Given the description of an element on the screen output the (x, y) to click on. 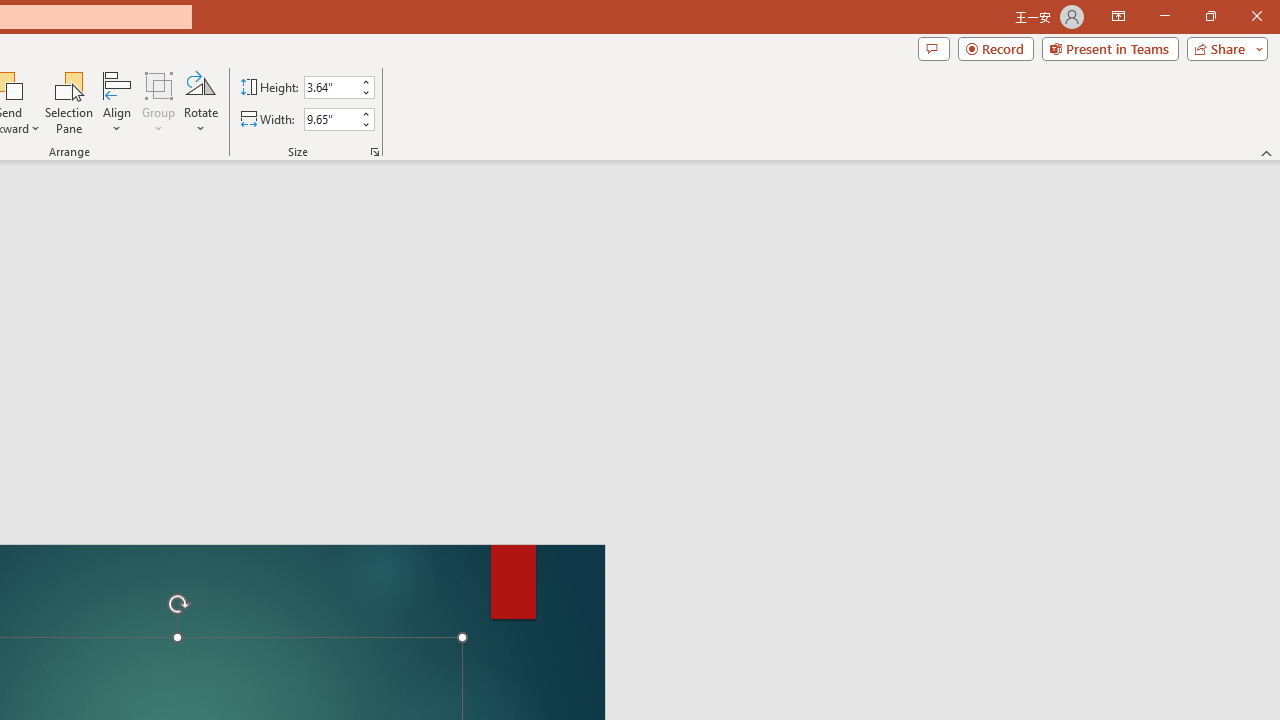
Present in Teams (1109, 48)
Less (365, 124)
Collapse the Ribbon (1267, 152)
Restore Down (1210, 16)
Shape Height (330, 87)
Shape Width (330, 119)
More (365, 113)
Size and Position... (374, 151)
Selection Pane... (69, 102)
